Given the description of an element on the screen output the (x, y) to click on. 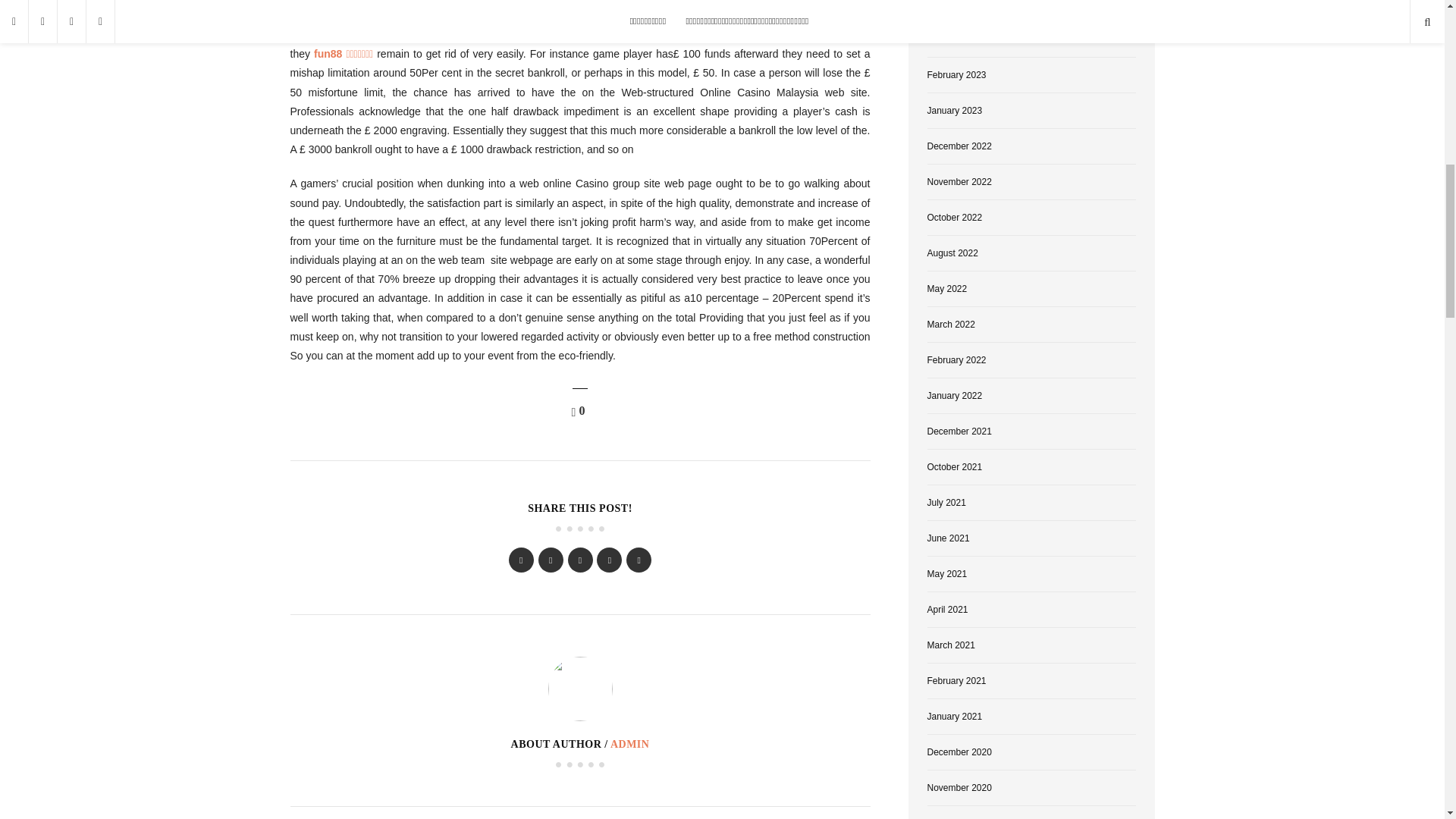
April 2023 (947, 4)
Posts by admin (629, 744)
 0 (580, 410)
January 2023 (953, 110)
March 2023 (950, 39)
February 2023 (955, 74)
Like (580, 410)
ADMIN (629, 744)
